Given the description of an element on the screen output the (x, y) to click on. 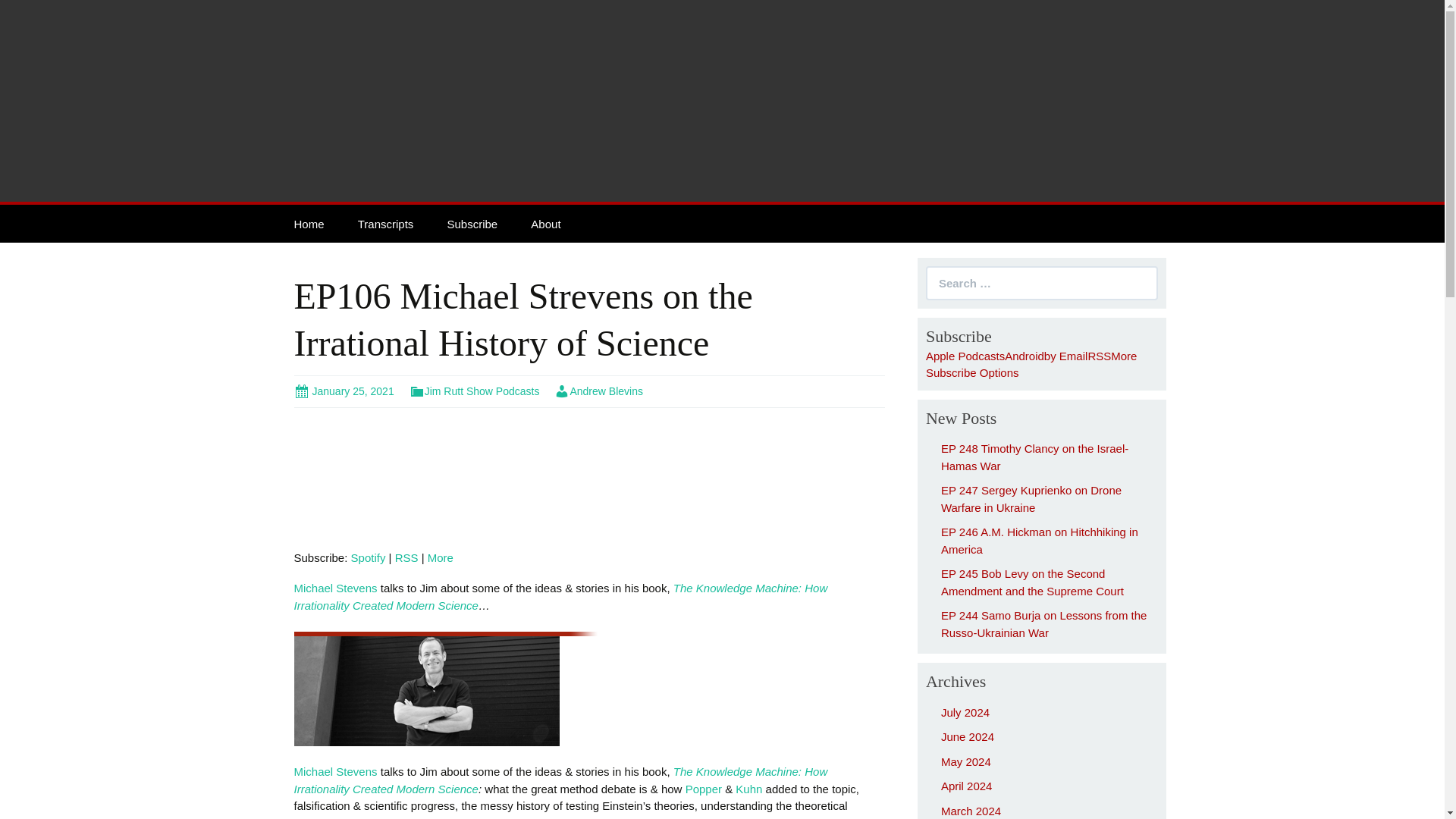
EP 247 Sergey Kuprienko on Drone Warfare in Ukraine (1030, 499)
Subscribe on Spotify (367, 557)
Search (23, 11)
EP 244 Samo Burja on Lessons from the Russo-Ukrainian War (1043, 624)
by Email (1065, 355)
January 25, 2021 (344, 390)
Home (309, 223)
Francis Bacon (619, 817)
Kuhn (748, 788)
Apple Podcasts (965, 355)
View all posts by Andrew Blevins (598, 390)
Subscribe (471, 223)
Subscribe via RSS (1098, 355)
More (440, 557)
